Given the description of an element on the screen output the (x, y) to click on. 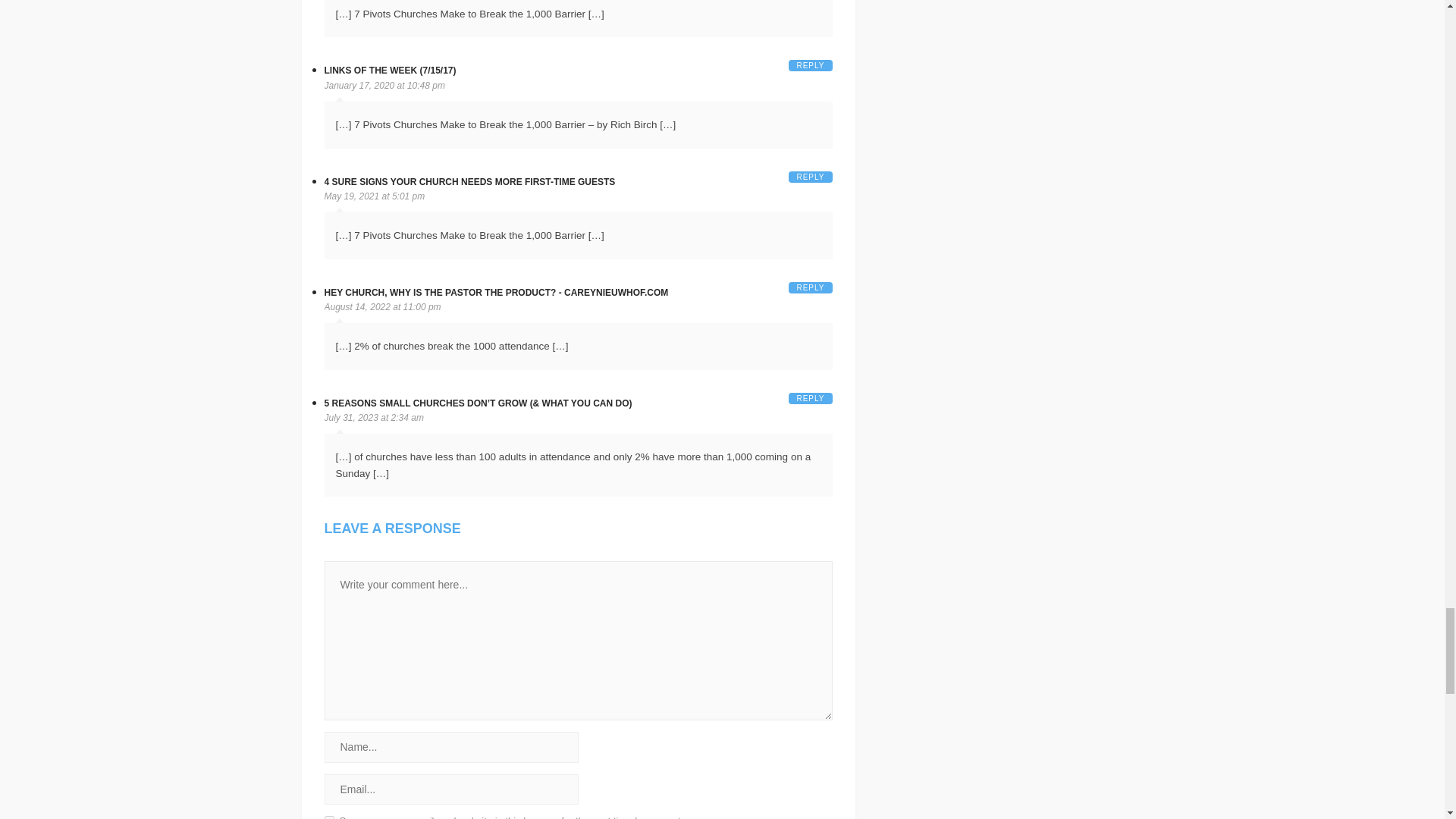
yes (329, 817)
